Given the description of an element on the screen output the (x, y) to click on. 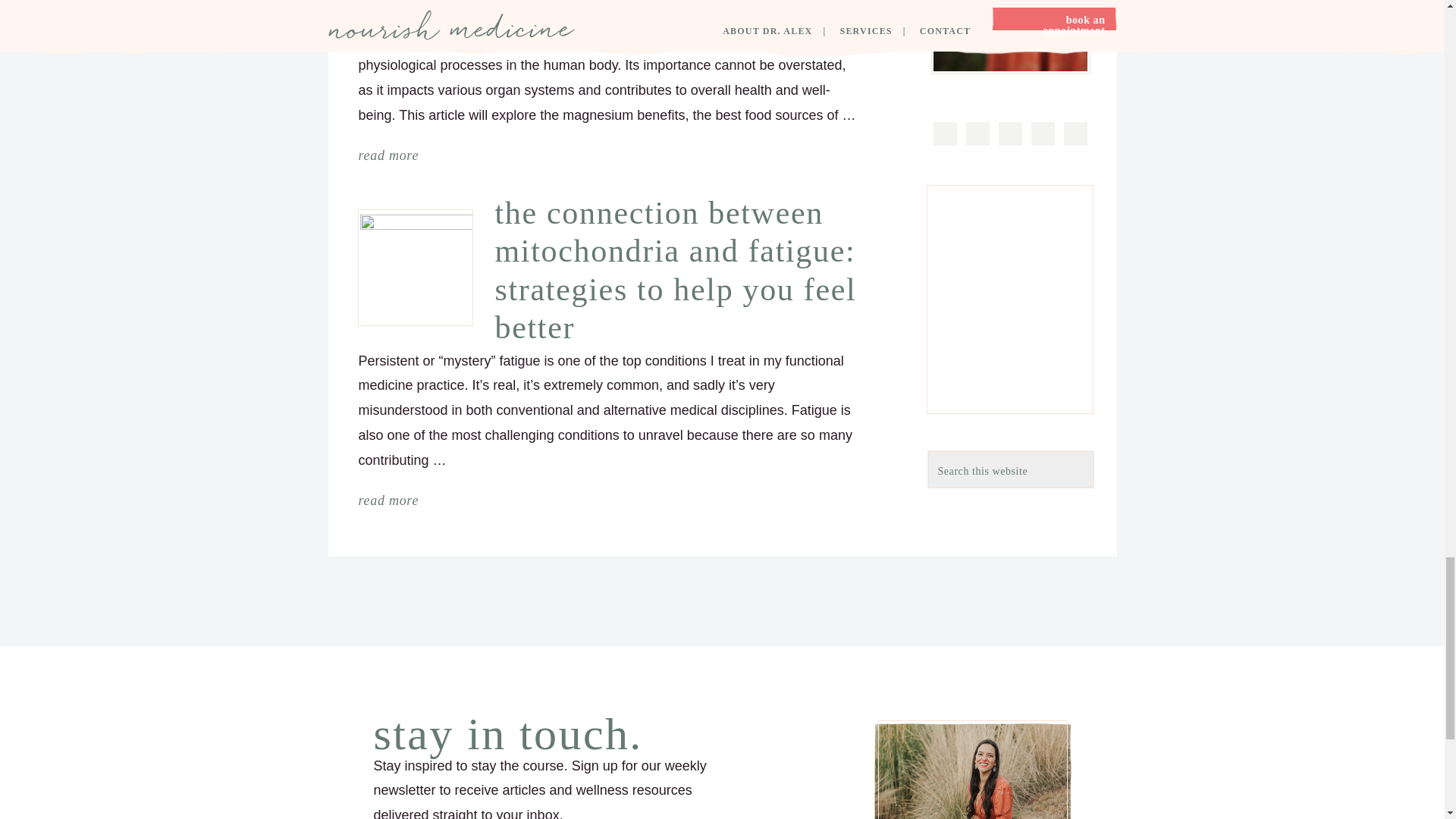
magnesium: the essential mineral for a healthier you (678, 3)
